Given the description of an element on the screen output the (x, y) to click on. 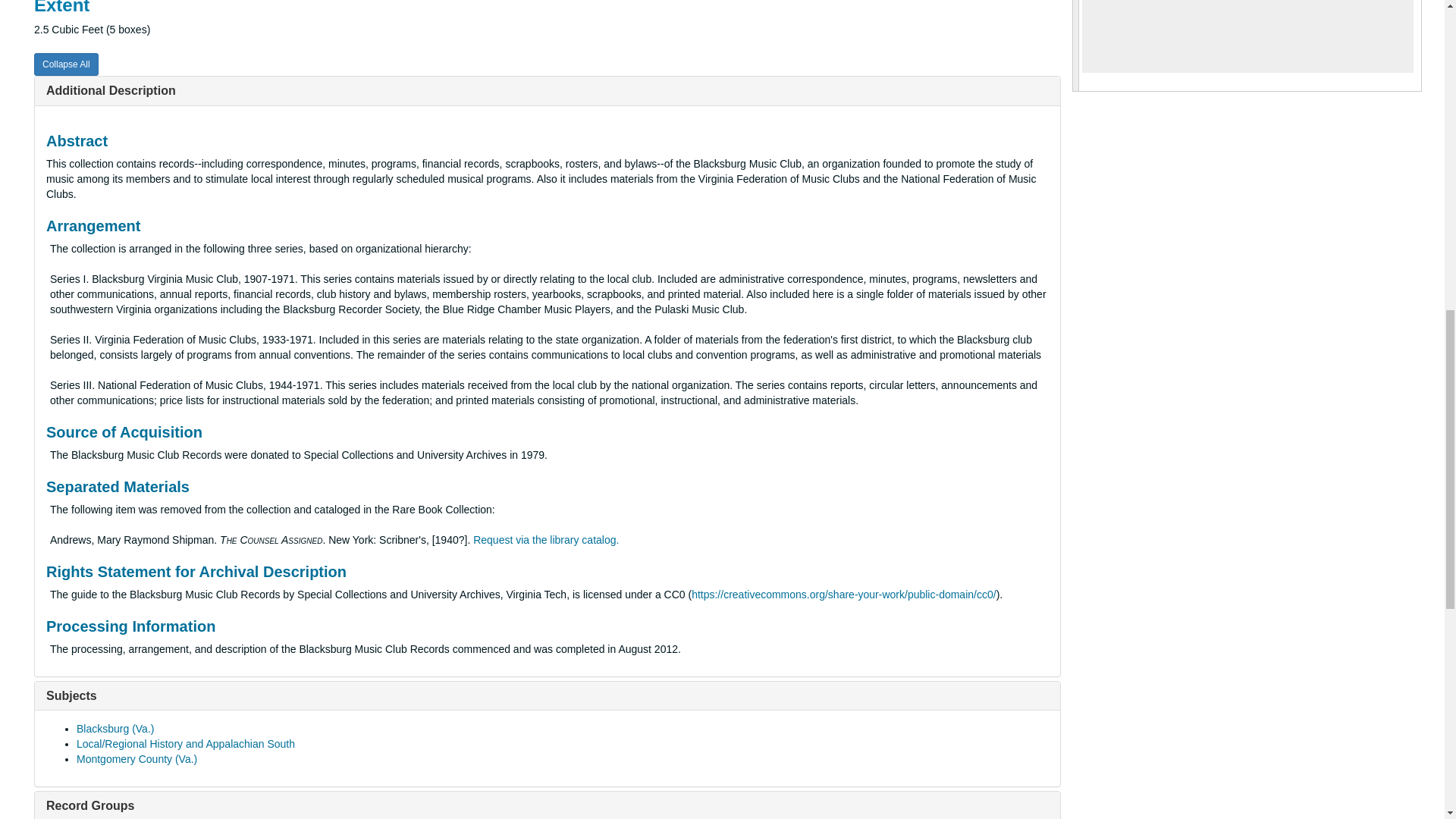
Record Groups (89, 805)
Additional Description (111, 90)
Collapse All (66, 64)
Subjects (71, 695)
Request via the library catalog. (545, 539)
